Given the description of an element on the screen output the (x, y) to click on. 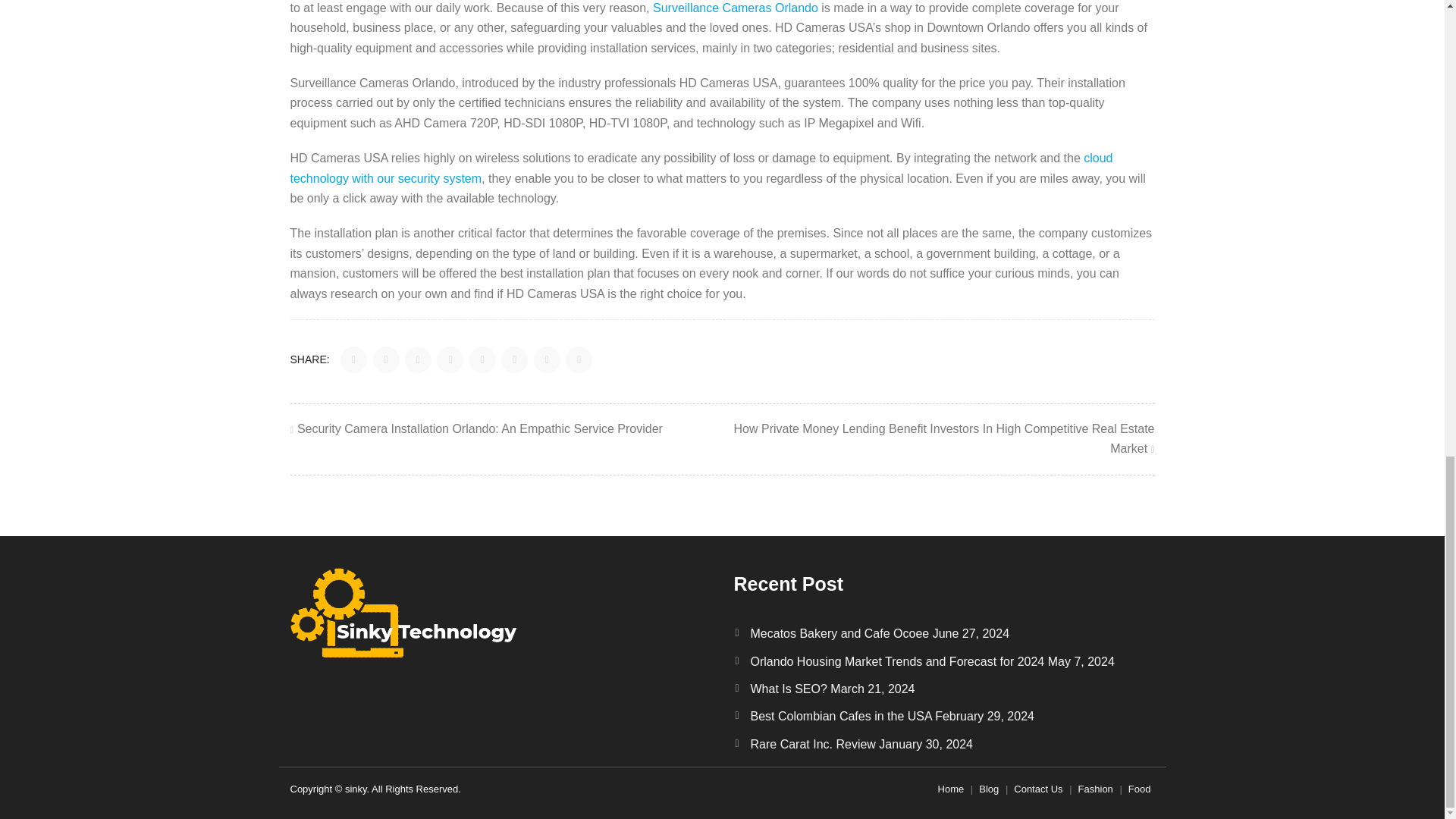
Mail to Friend (578, 359)
cloud technology with our security system (700, 167)
Share on Facebook (353, 359)
Rare Carat Inc. Review (813, 744)
Share on Linkedin (450, 359)
Share on Stumbleupon (514, 359)
Share on Tumblr (546, 359)
Share on Pinterest (482, 359)
Share on Twitter (386, 359)
Home (950, 788)
